Given the description of an element on the screen output the (x, y) to click on. 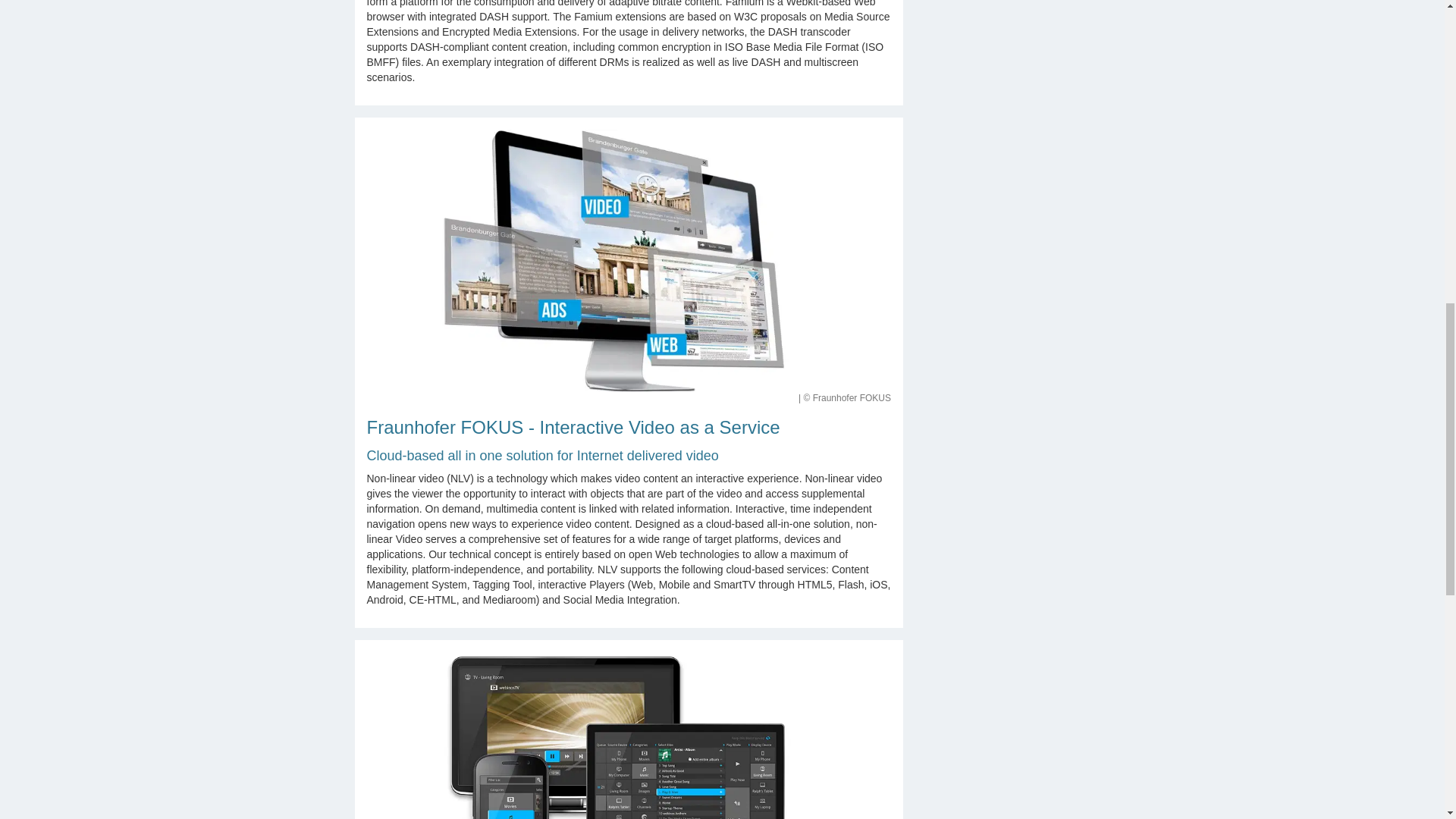
Fraunhofer FOKUS (628, 735)
